Given the description of an element on the screen output the (x, y) to click on. 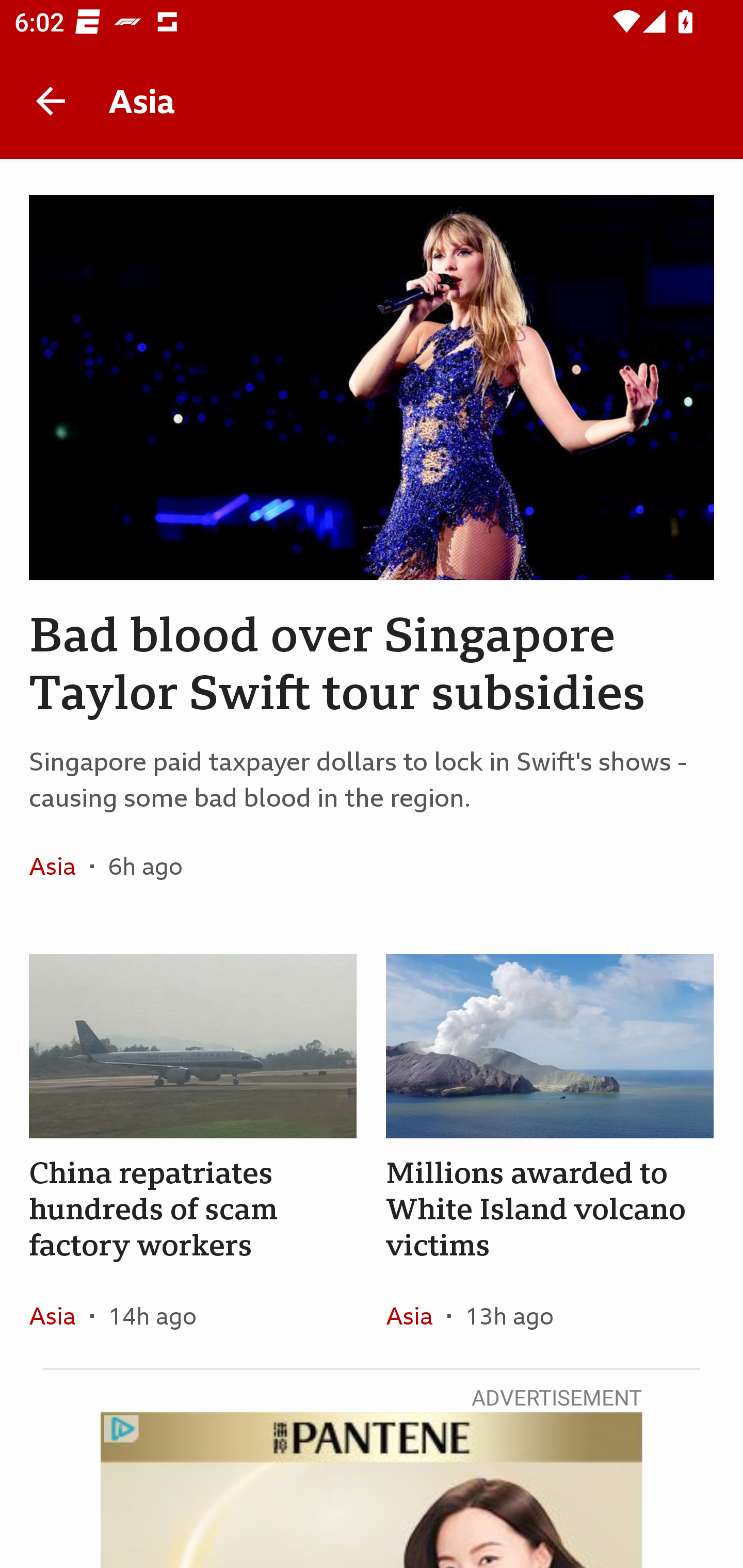
Back (50, 101)
Asia In the section Asia (59, 865)
Asia In the section Asia (59, 1315)
Asia In the section Asia (416, 1315)
